Given the description of an element on the screen output the (x, y) to click on. 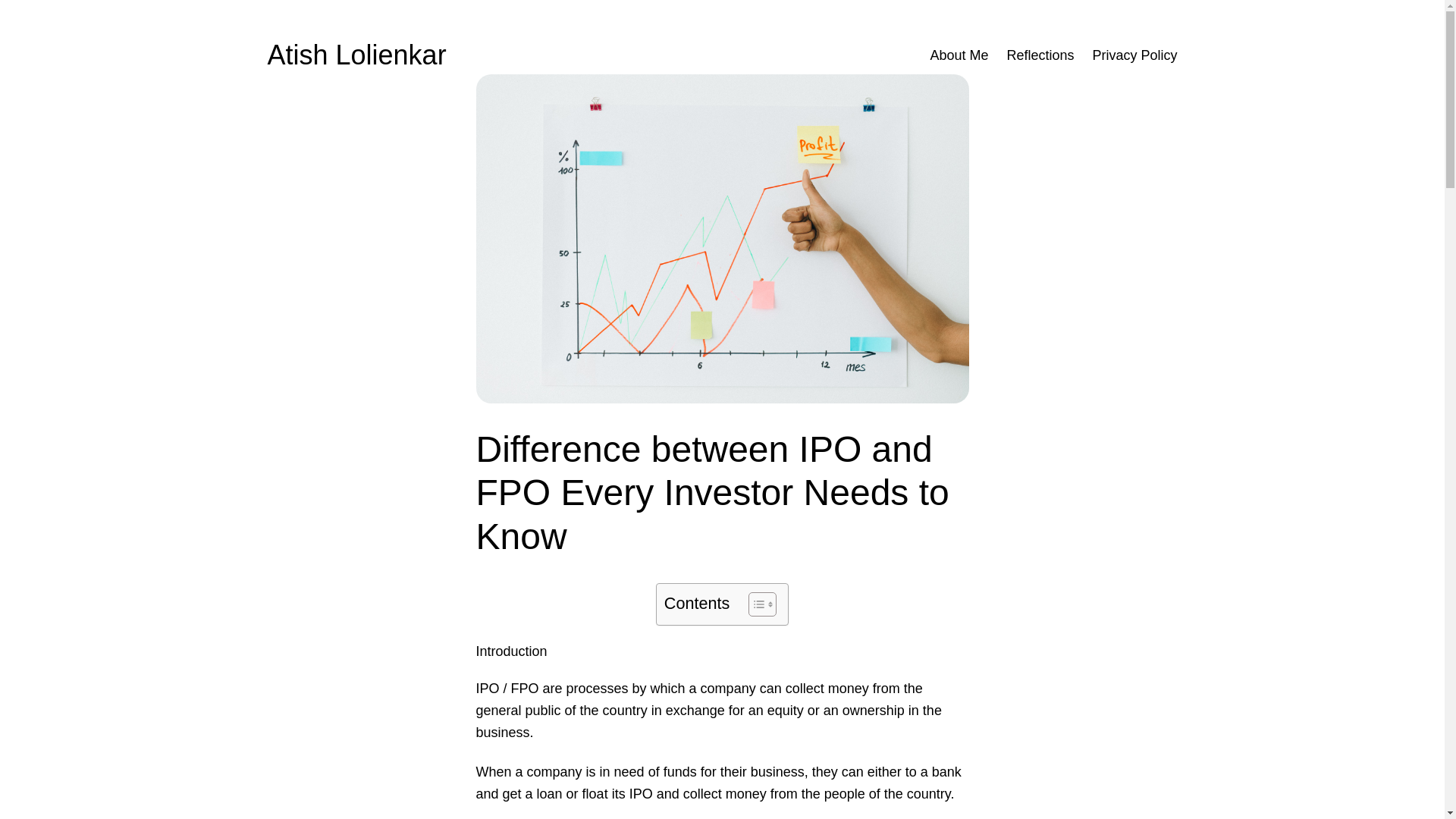
Atish Lolienkar (355, 54)
Reflections (1040, 55)
About Me (959, 55)
Privacy Policy (1134, 55)
